Given the description of an element on the screen output the (x, y) to click on. 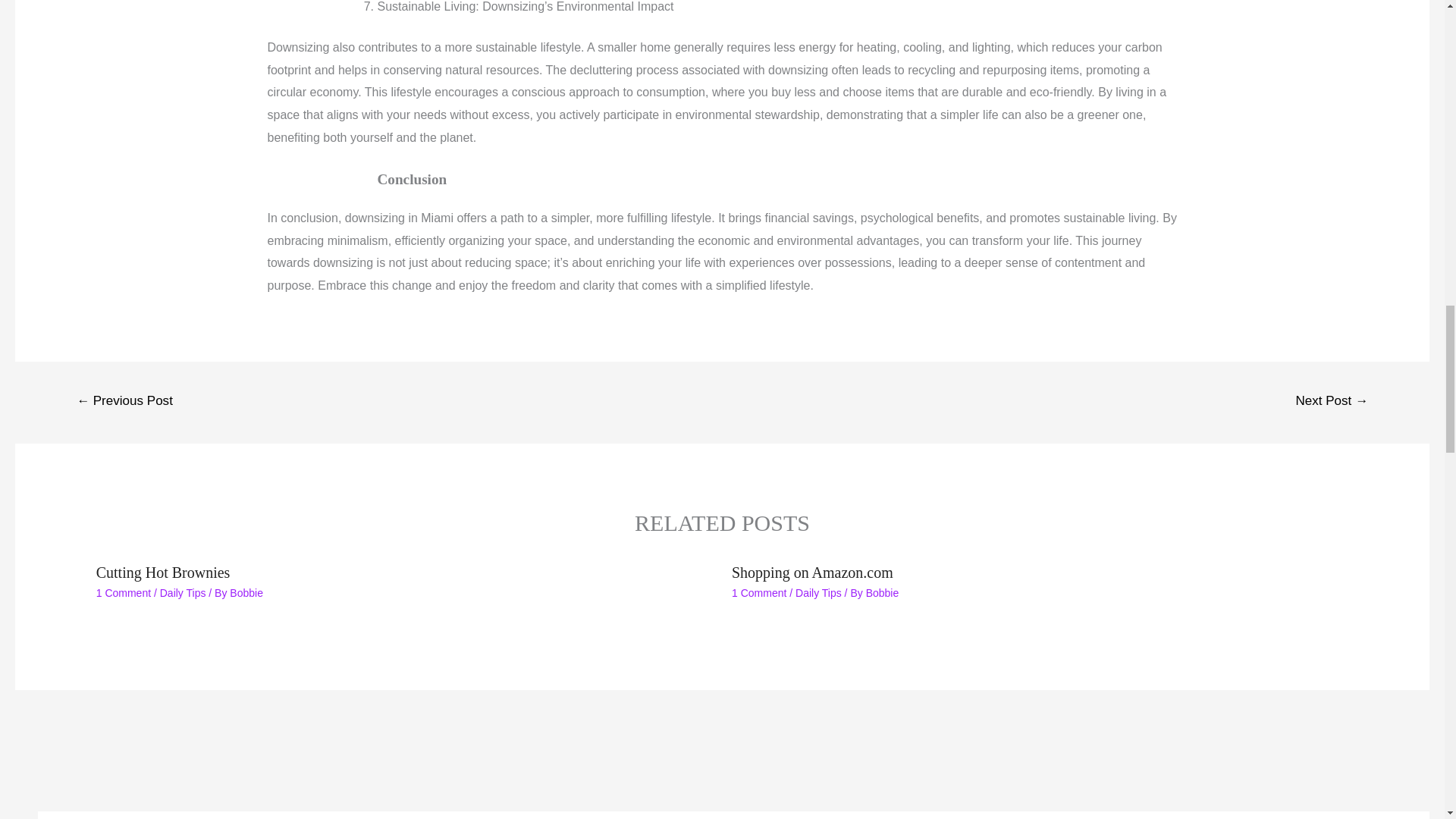
Daily Tips (817, 592)
Bobbie (246, 592)
Cutting Hot Brownies (163, 572)
Daily Tips (183, 592)
View all posts by Bobbie (882, 592)
Shopping on Amazon.com (812, 572)
1 Comment (123, 592)
1 Comment (759, 592)
Bobbie (882, 592)
View all posts by Bobbie (246, 592)
